Given the description of an element on the screen output the (x, y) to click on. 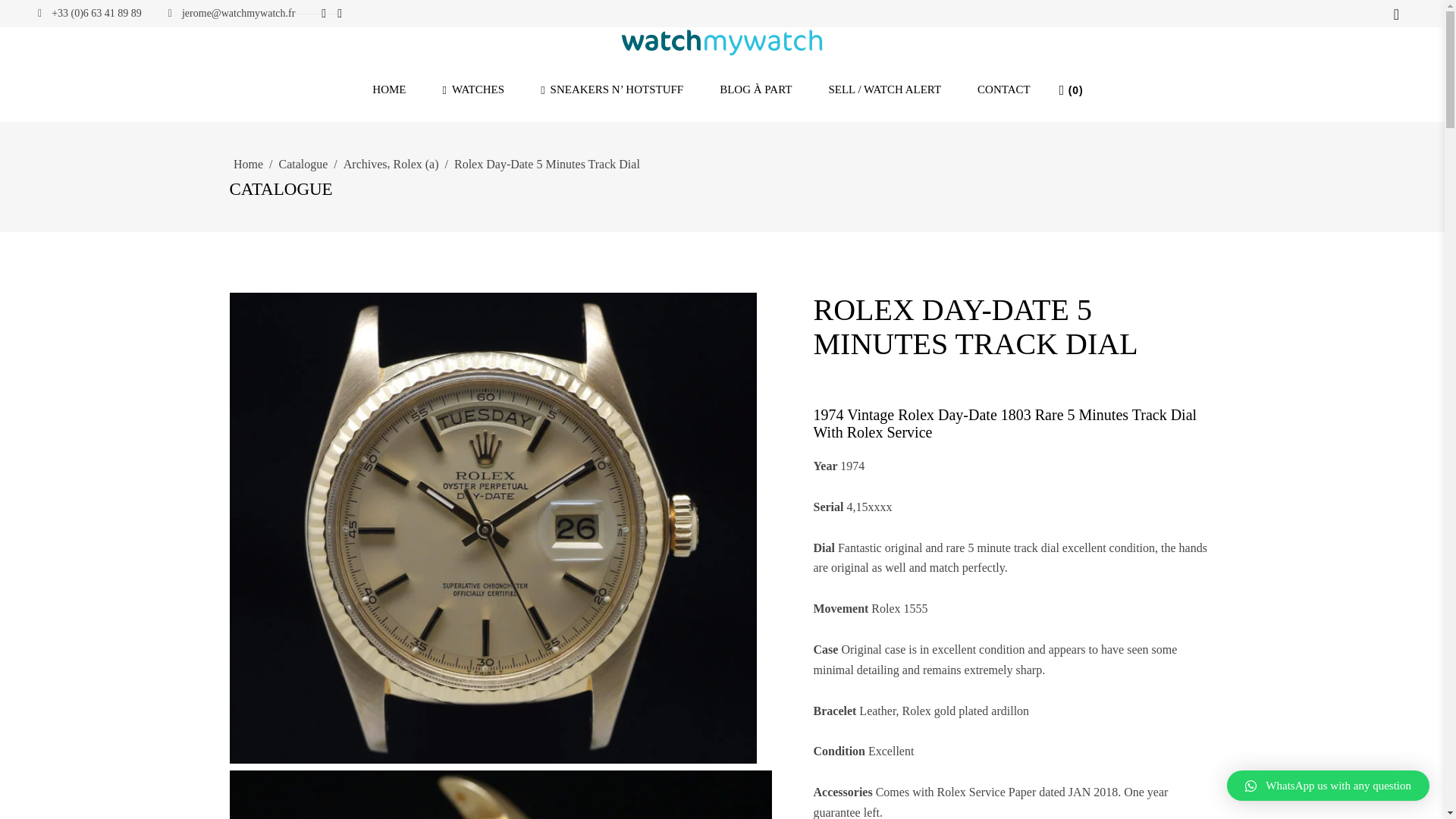
img-288-2941 (491, 758)
